Given the description of an element on the screen output the (x, y) to click on. 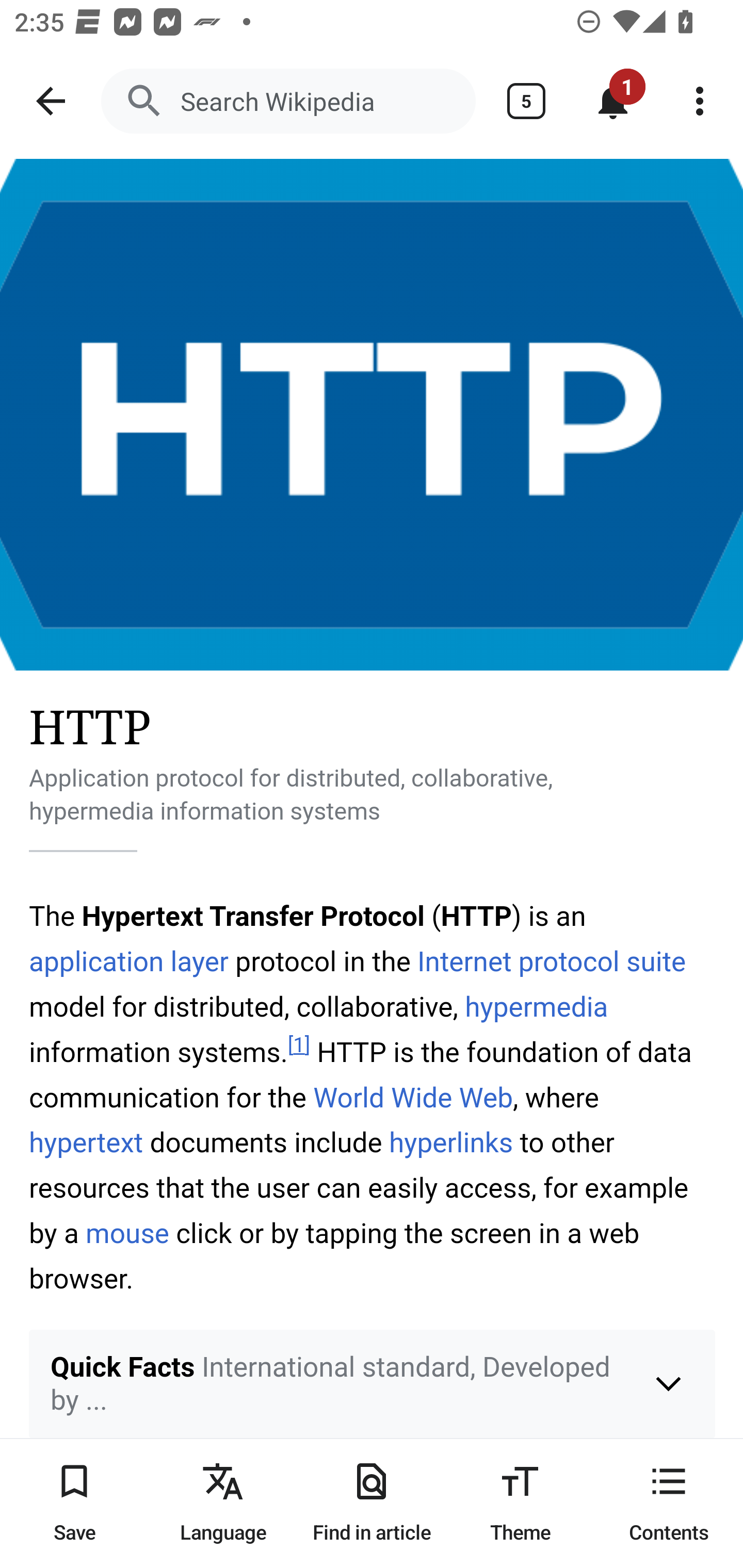
Show tabs 5 (525, 100)
Notifications 1 (612, 100)
Navigate up (50, 101)
More options (699, 101)
Search Wikipedia (288, 100)
Image: HTTP (371, 414)
application layer (128, 961)
Internet protocol suite (552, 961)
hypermedia (535, 1007)
[] [ 1 ] (299, 1045)
World Wide Web (413, 1098)
hypertext (86, 1142)
hyperlinks (450, 1142)
mouse (127, 1233)
Save (74, 1502)
Language (222, 1502)
Find in article (371, 1502)
Theme (519, 1502)
Contents (668, 1502)
